Given the description of an element on the screen output the (x, y) to click on. 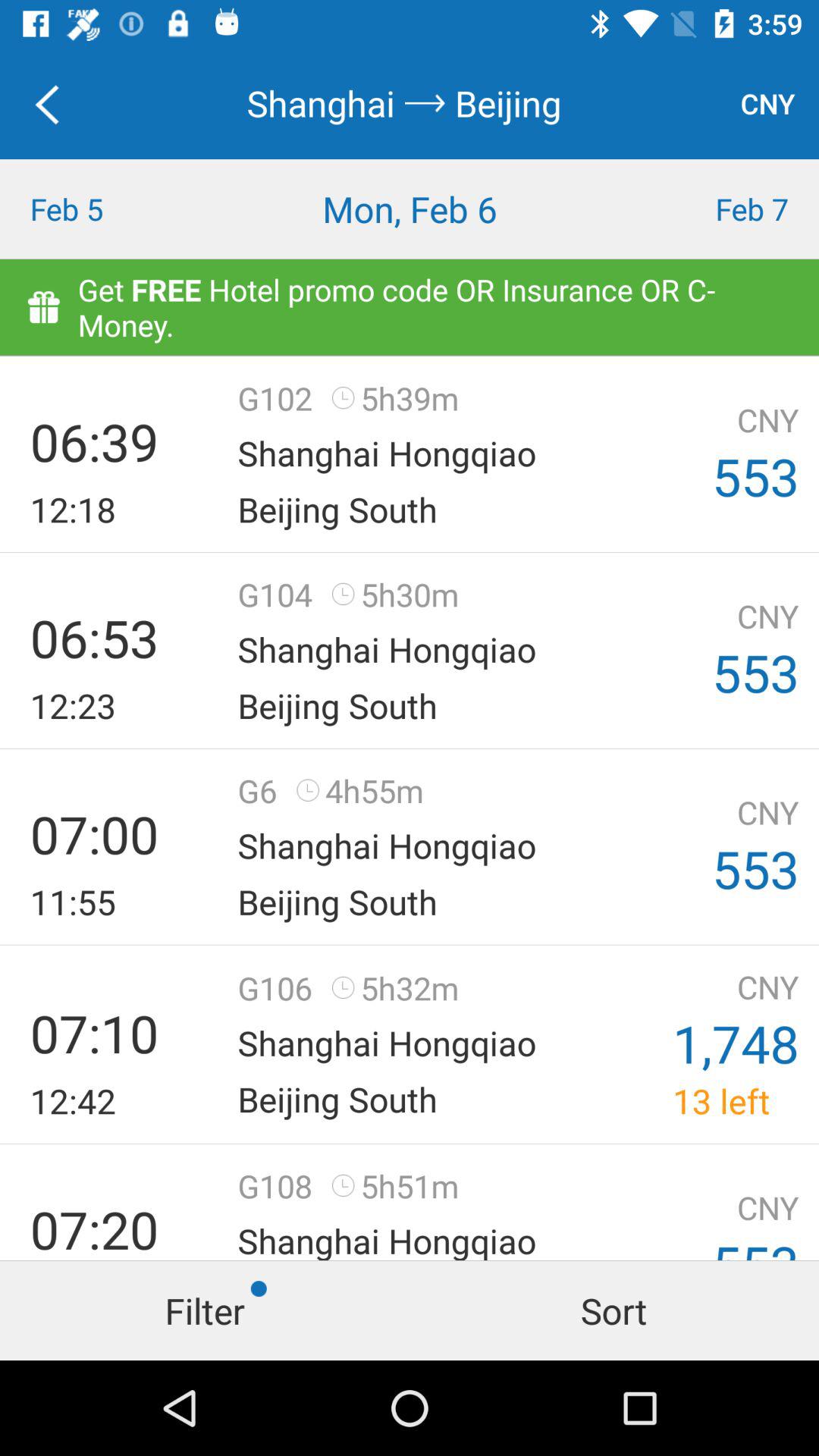
flip until feb 5 icon (102, 208)
